Given the description of an element on the screen output the (x, y) to click on. 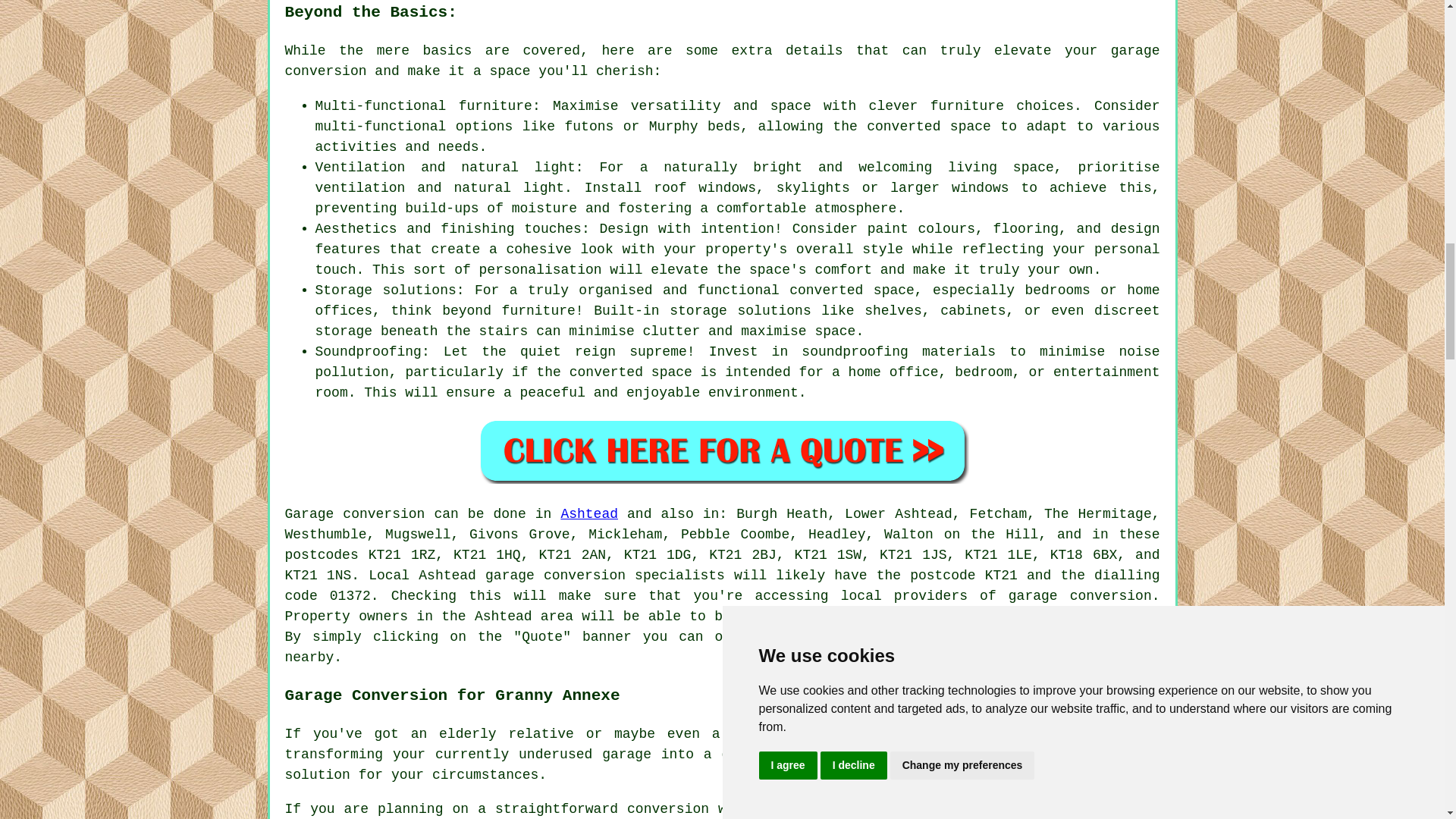
garage conversion (1080, 595)
garage conversion (722, 60)
Garage (309, 513)
garage conversion specialists (604, 575)
